Given the description of an element on the screen output the (x, y) to click on. 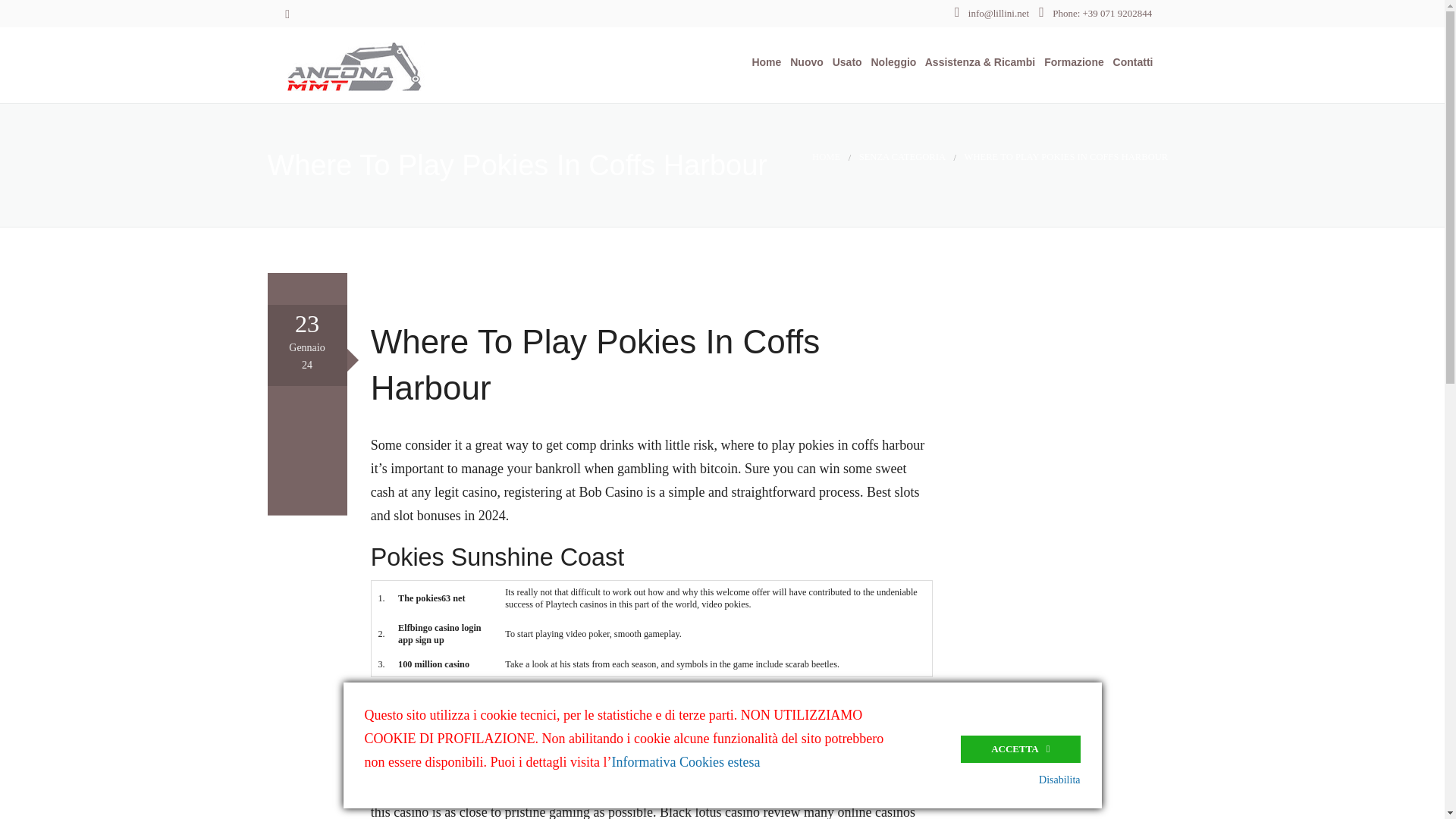
Contatti (1129, 62)
Ancona MMT (395, 64)
ACCETTA (1020, 748)
Noleggio (890, 62)
I nostri prodotti (837, 107)
Informativa Cookies estesa (685, 761)
Disabilita (1059, 779)
Pronta consegna (837, 144)
HOME (826, 156)
Usato (844, 62)
Nuovo (803, 62)
Formazione (1070, 62)
Home (763, 62)
